Given the description of an element on the screen output the (x, y) to click on. 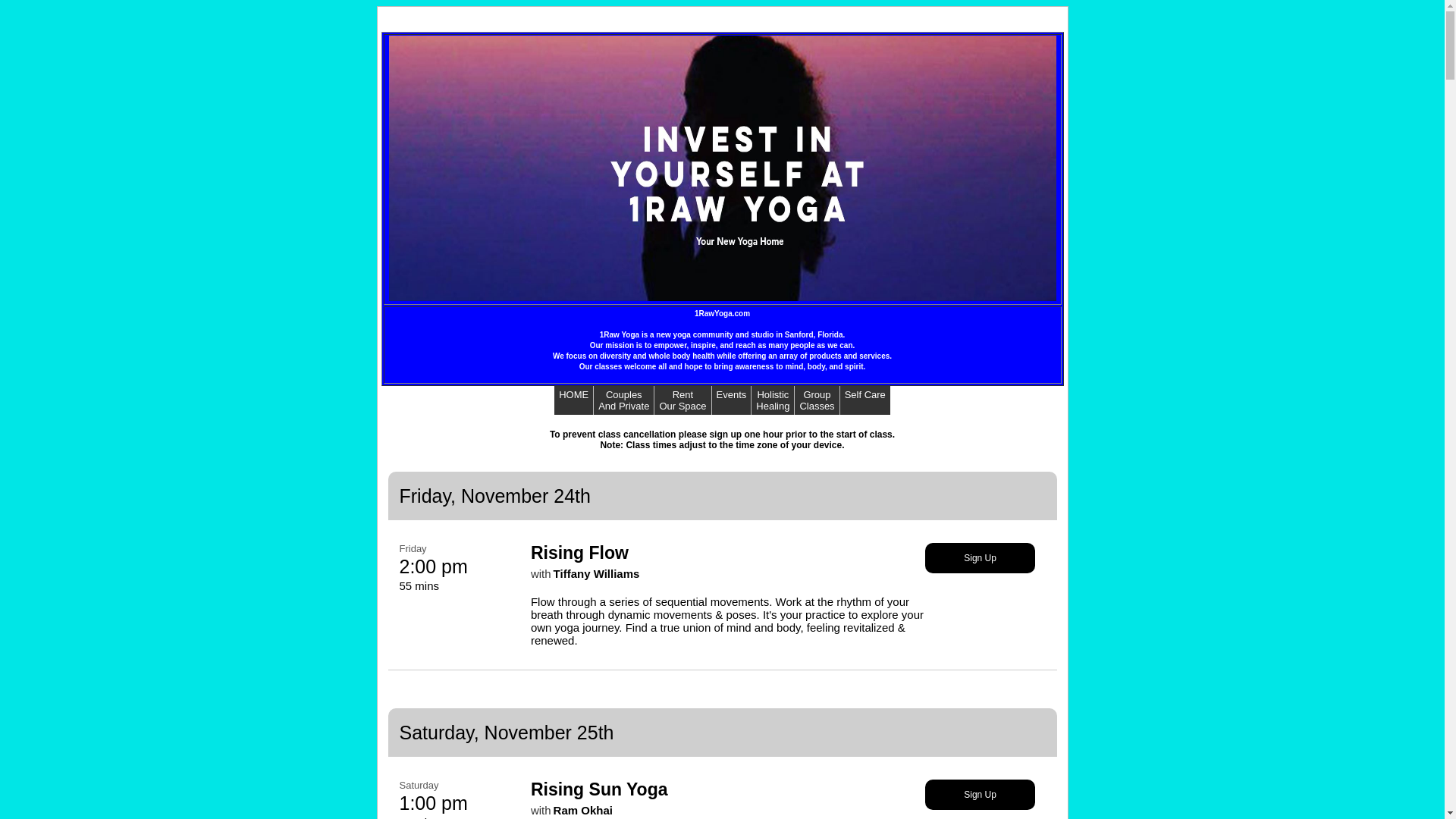
Rent
Our Space Element type: text (682, 399)
Group
Classes Element type: text (816, 399)
Sign Up Element type: text (980, 794)
Holistic
Healing Element type: text (772, 399)
Sign Up Element type: text (980, 557)
Self Care Element type: text (865, 394)
Couples
And Private Element type: text (623, 399)
HOME
  Element type: text (573, 399)
Events
  Element type: text (731, 399)
